Given the description of an element on the screen output the (x, y) to click on. 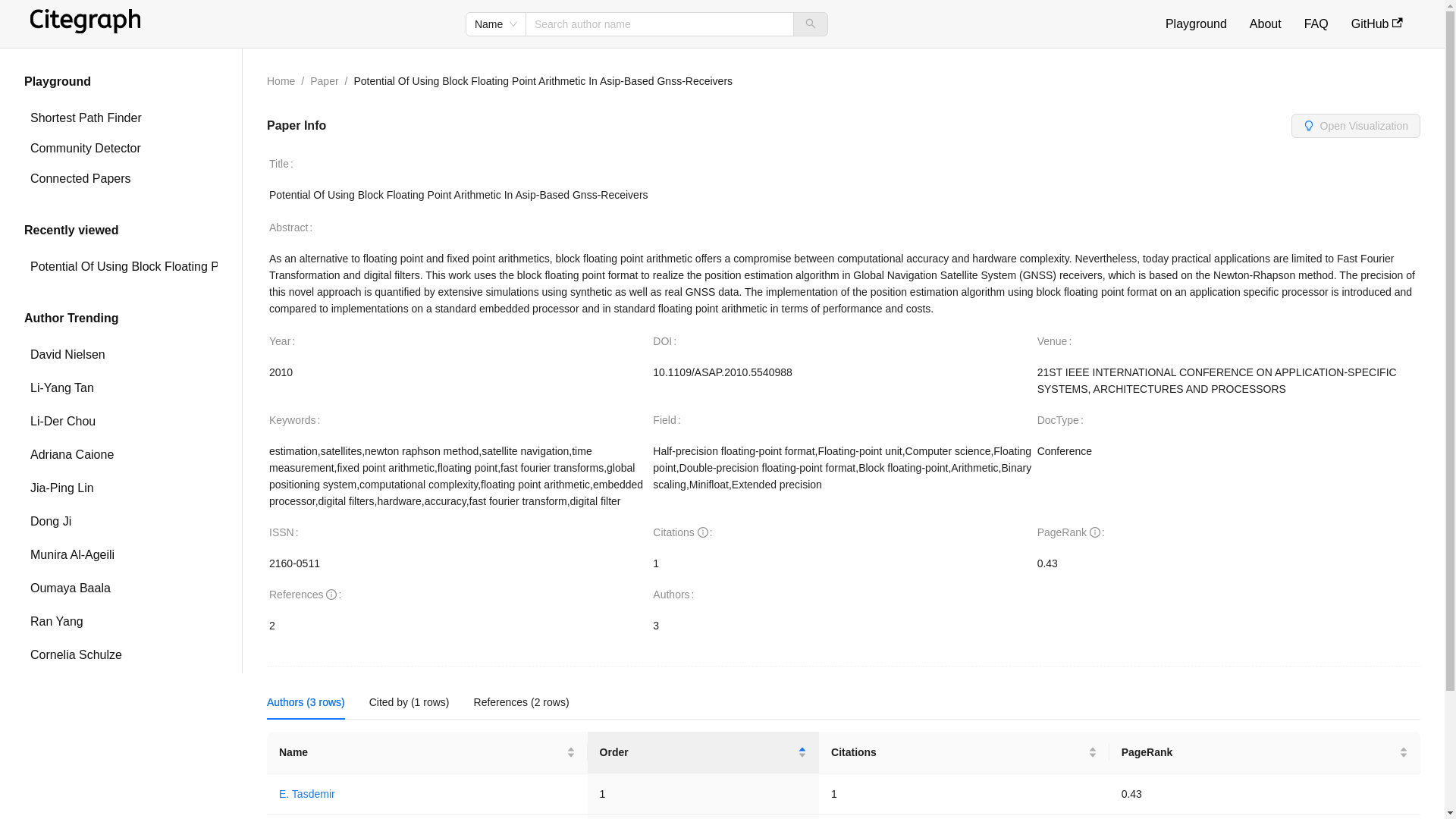
About (1265, 22)
Munira Al-Ageili (120, 554)
Community Detector (120, 148)
Playground (1196, 22)
Shortest Path Finder (120, 118)
E. Tasdemir (306, 793)
Dong Ji (120, 521)
FAQ (1315, 22)
David Nielsen (120, 354)
Open Visualization (1356, 125)
Home (280, 80)
Cornelia Schulze (120, 654)
Jia-Ping Lin (120, 488)
